Given the description of an element on the screen output the (x, y) to click on. 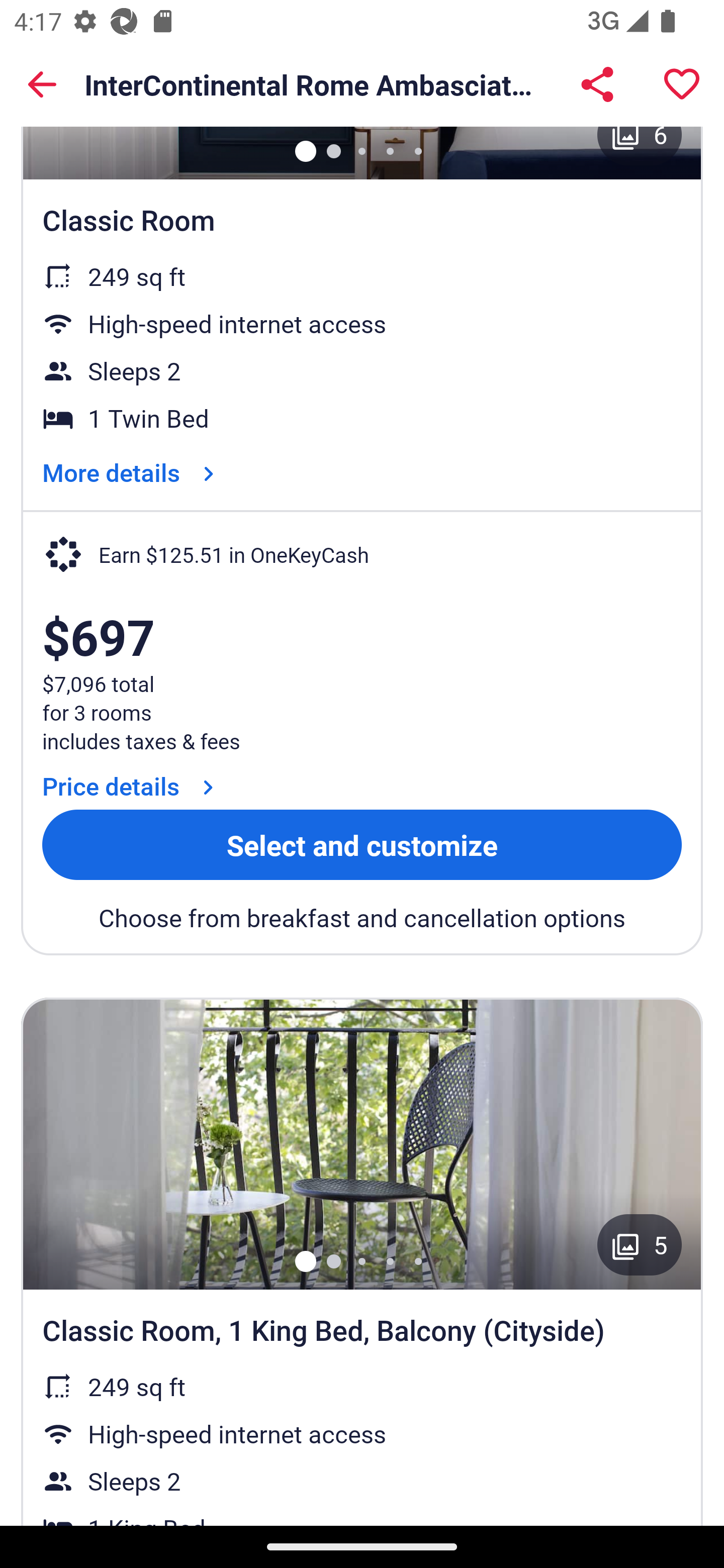
Back (42, 84)
Save property to a trip (681, 84)
Room amenity (361, 1142)
Gallery button with 5 images (639, 1244)
